Given the description of an element on the screen output the (x, y) to click on. 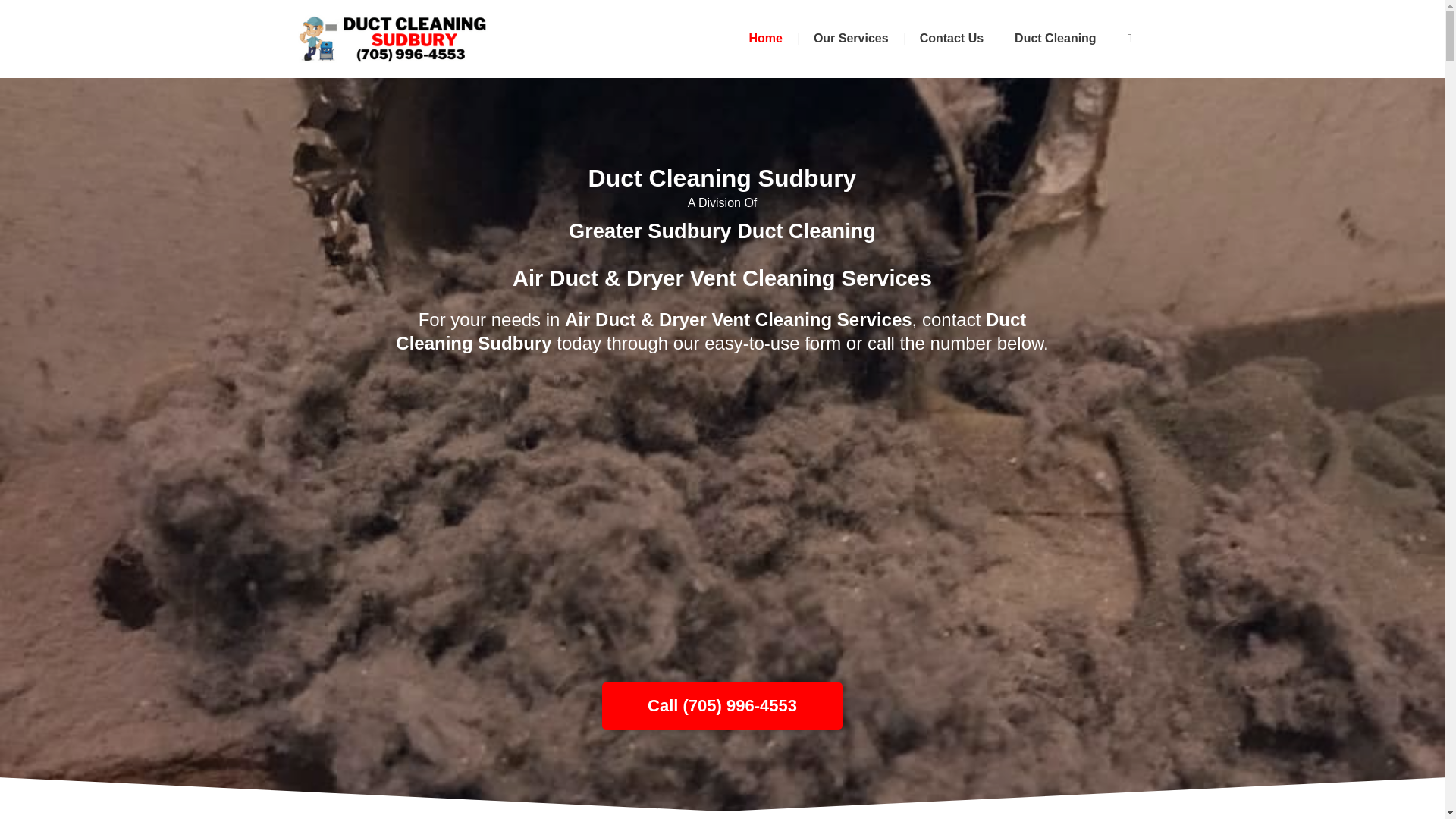
Duct Cleaning (1055, 38)
Home (764, 38)
Contact Us (951, 38)
Our Services (850, 38)
